Given the description of an element on the screen output the (x, y) to click on. 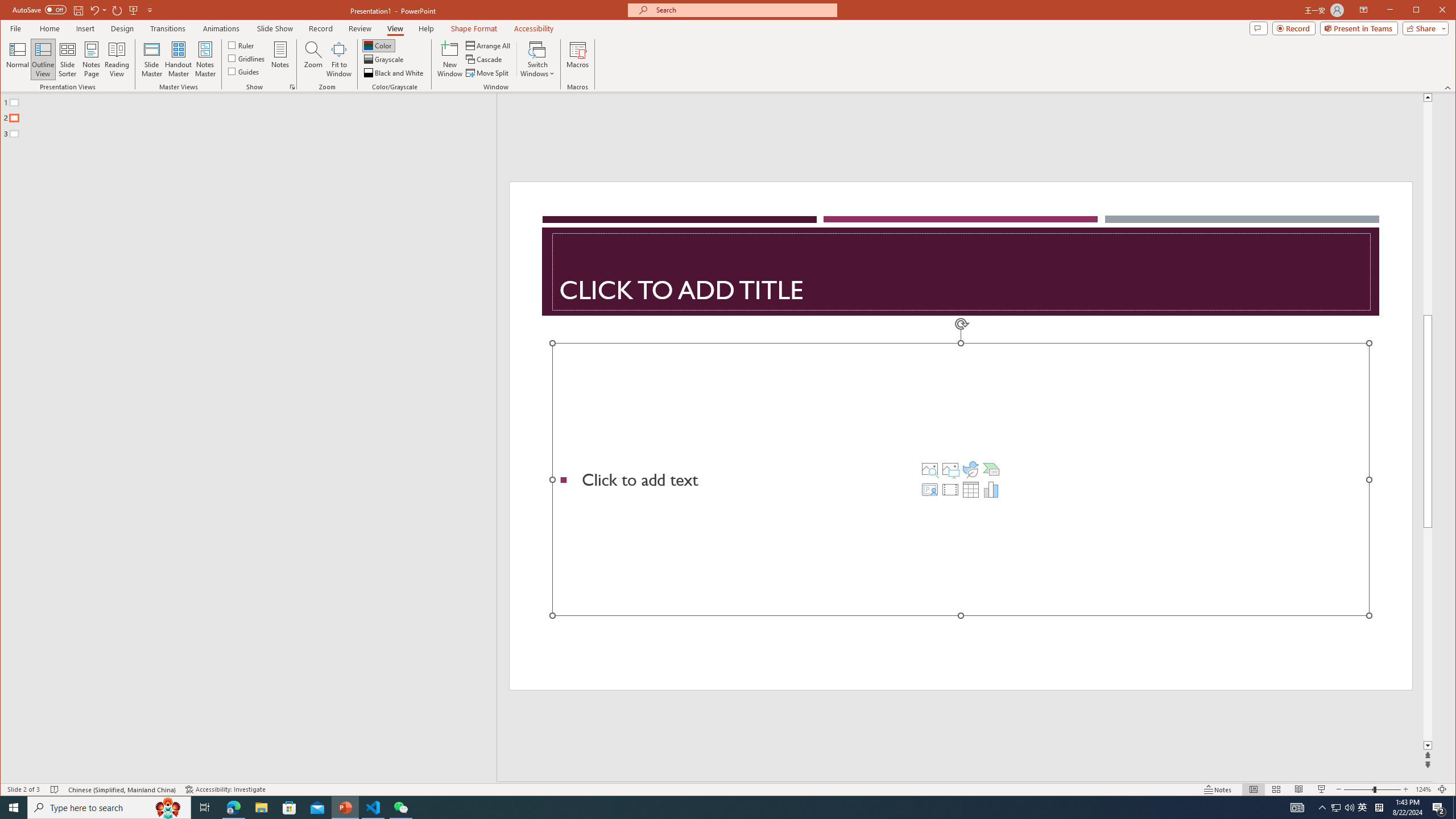
Ribbon Display Options (1364, 9)
Content Placeholder (960, 479)
Undo (94, 9)
New Window (450, 59)
Slide Master (151, 59)
User Promoted Notification Area (1342, 807)
Notification Chevron (1322, 807)
AutomationID: 4105 (1297, 807)
Outline View (42, 59)
Slide Show (1321, 789)
Gridlines (246, 57)
More Options (105, 9)
System (10, 10)
Insert (85, 28)
